Given the description of an element on the screen output the (x, y) to click on. 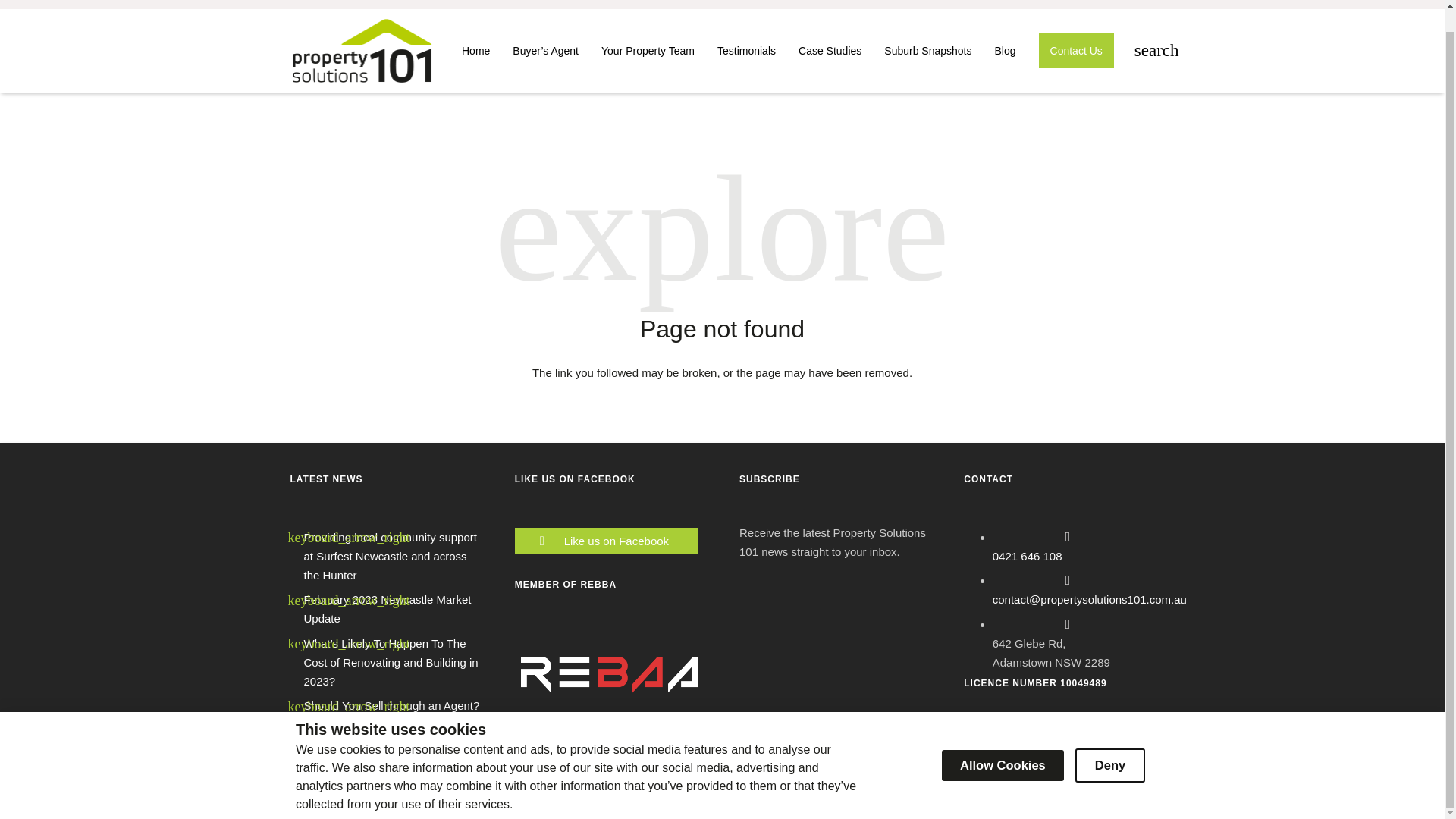
Like us on Facebook (620, 540)
Privacy Policy (489, 793)
Suburb Snapshots (927, 50)
Email Us (599, 2)
0421 646 108 (1027, 555)
Market Update December 2022 (381, 730)
Case Studies (829, 50)
February 2023 Newcastle Market Update (386, 608)
Your Property Team (647, 50)
Contact Us (1076, 50)
Testimonials (746, 50)
Should You Sell through an Agent? (390, 705)
Website by HyperWeb - Website Development Newcastle (1082, 794)
